Given the description of an element on the screen output the (x, y) to click on. 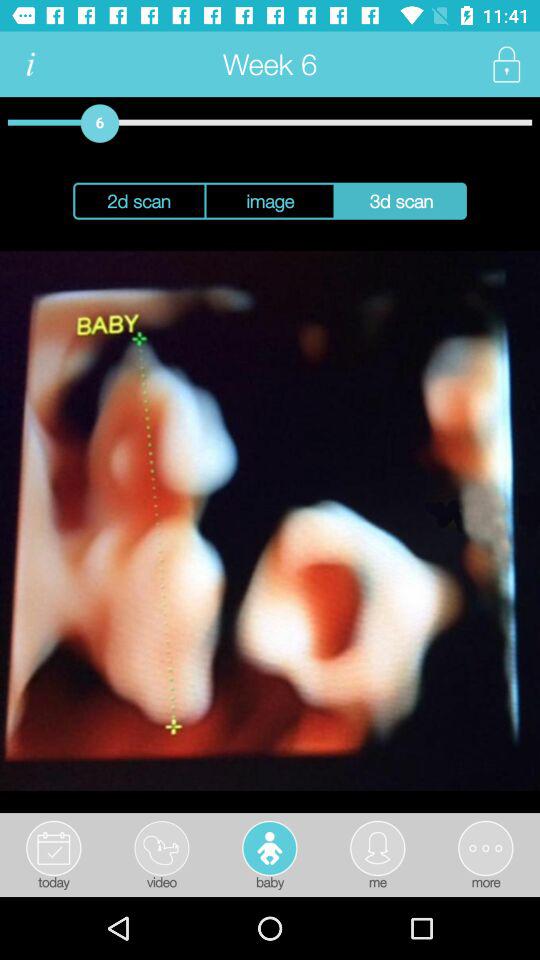
lock (506, 63)
